Given the description of an element on the screen output the (x, y) to click on. 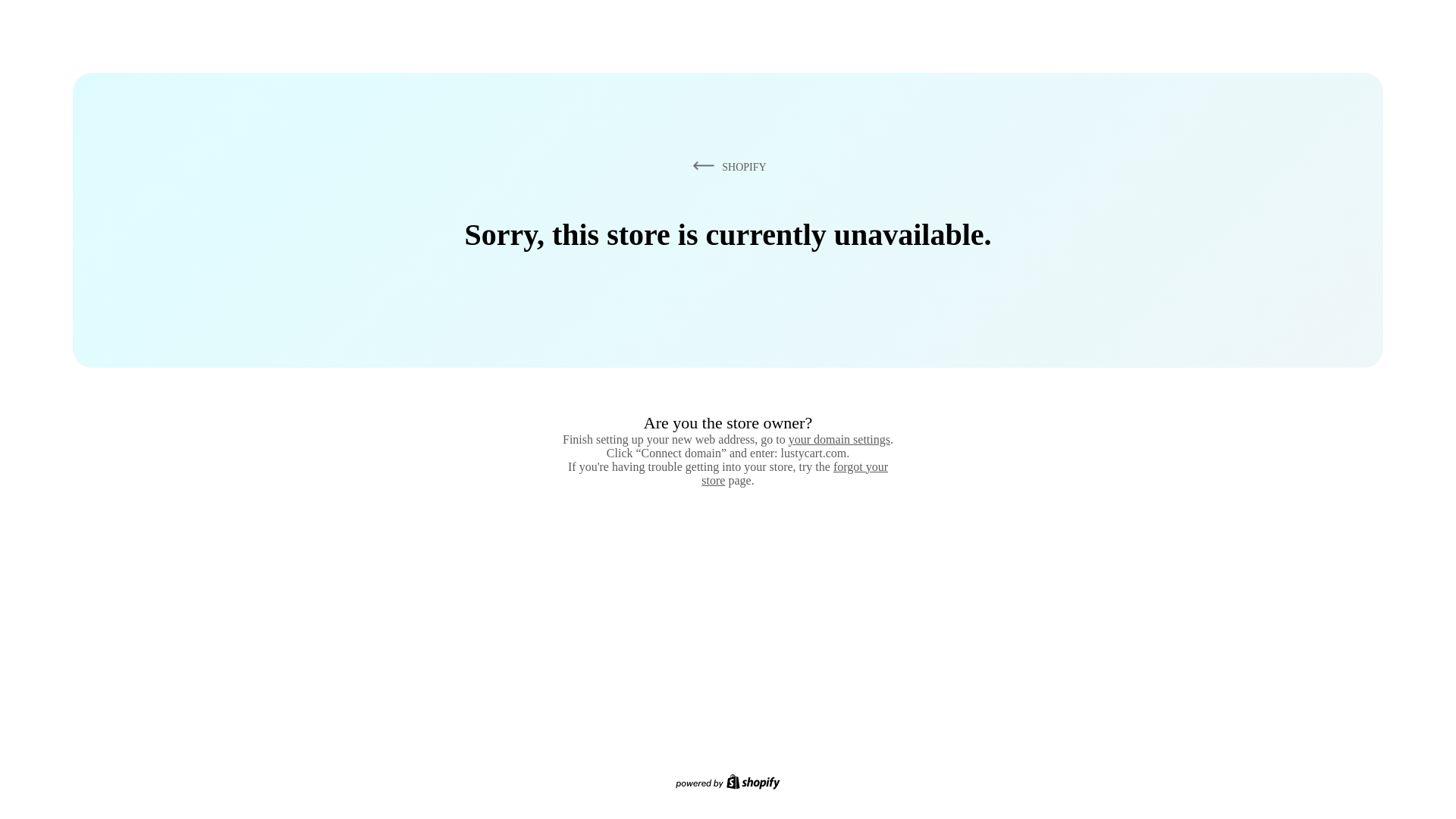
forgot your store (794, 473)
your domain settings (839, 439)
SHOPIFY (726, 166)
